Given the description of an element on the screen output the (x, y) to click on. 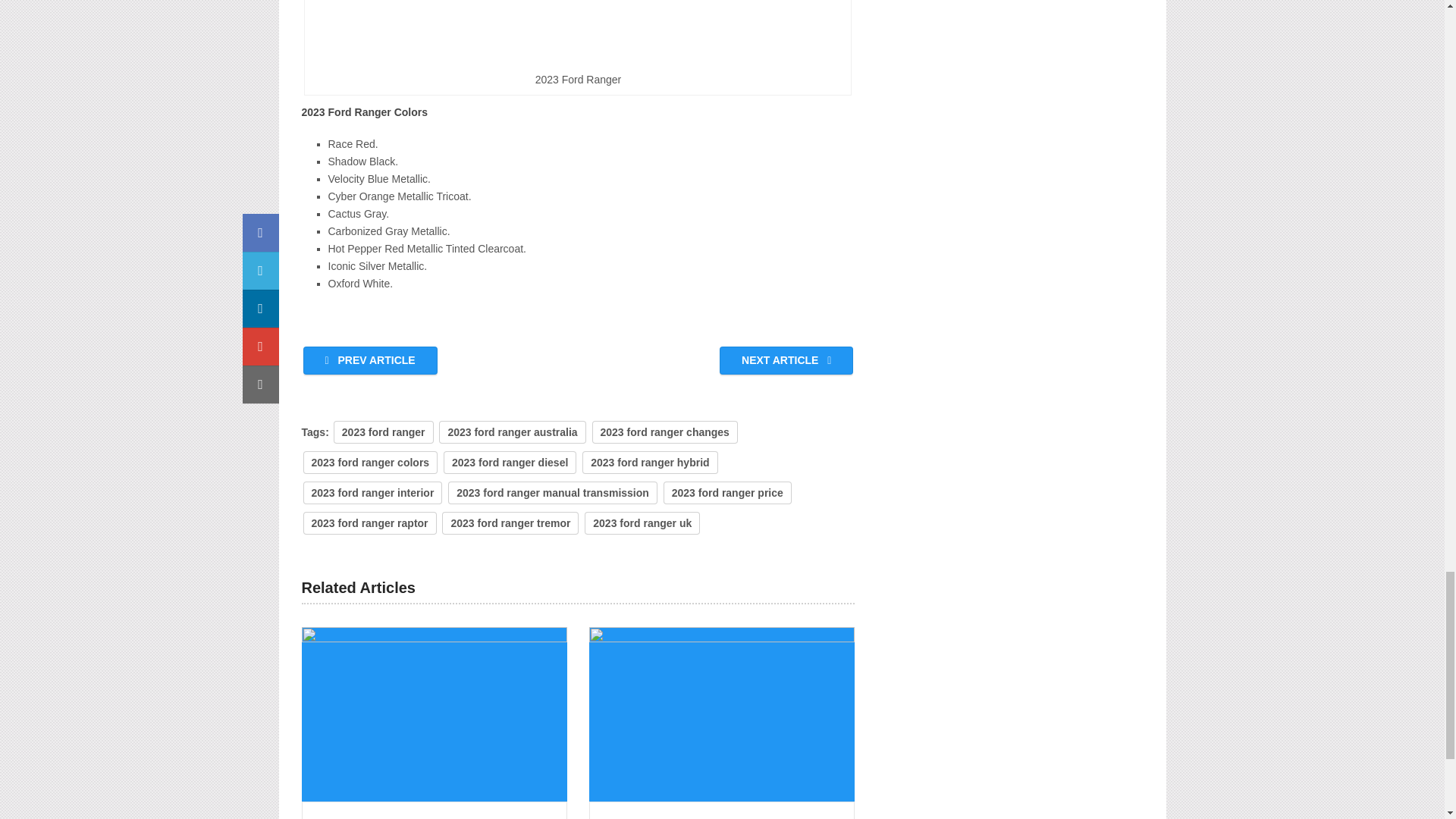
2023 Ford Ranger Release Date Colors, Redesign, Price (721, 714)
2023 Ford Ranger Australia Colors, Release Date, Price (434, 714)
